Given the description of an element on the screen output the (x, y) to click on. 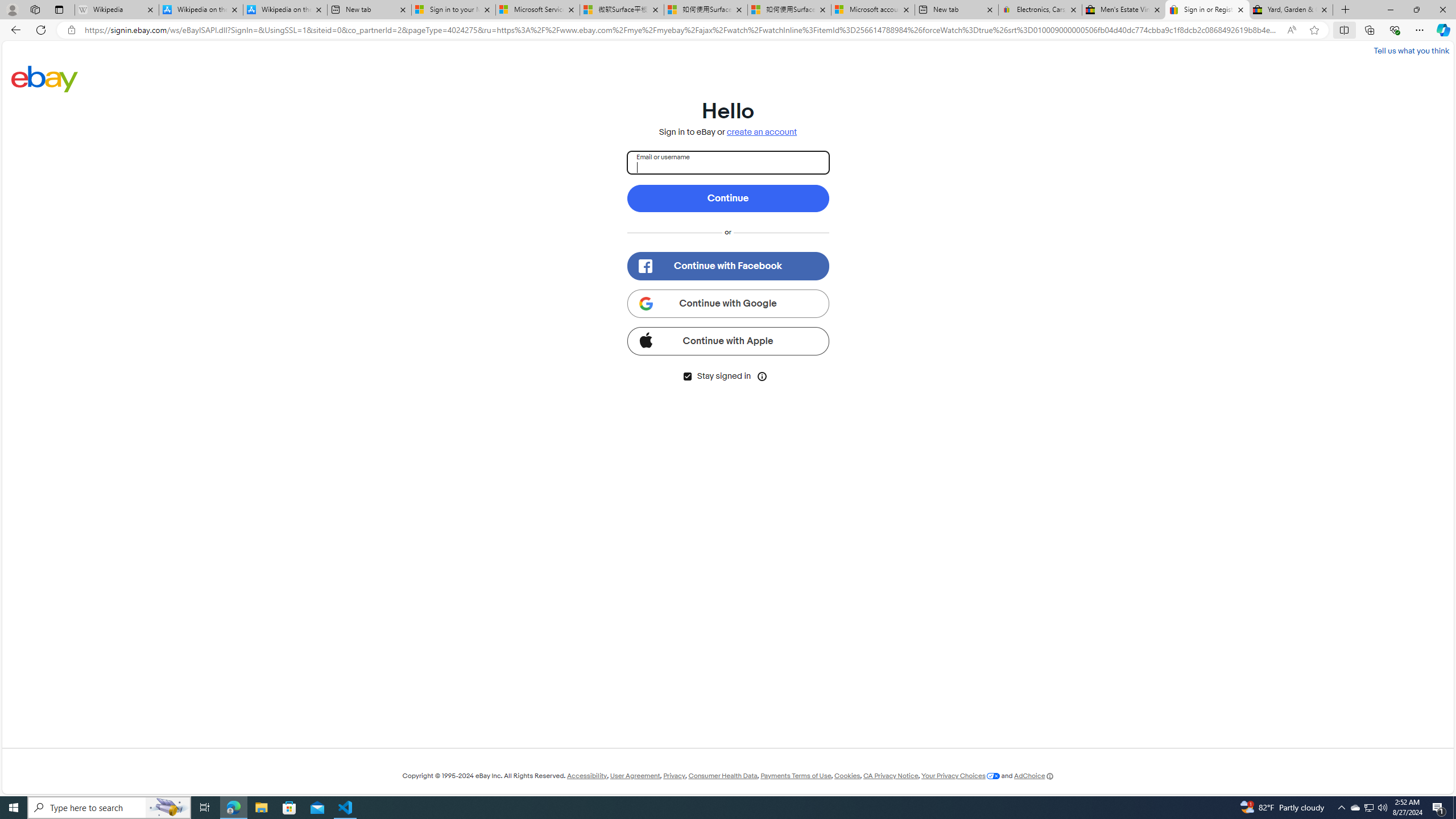
Sign in or Register | eBay (1206, 9)
Cookies (847, 775)
Sign in to your Microsoft account (453, 9)
To get missing image descriptions, open the context menu. (644, 265)
Yard, Garden & Outdoor Living (1291, 9)
create an account (761, 131)
eBay Home (44, 78)
Continue with Facebook (727, 266)
